Given the description of an element on the screen output the (x, y) to click on. 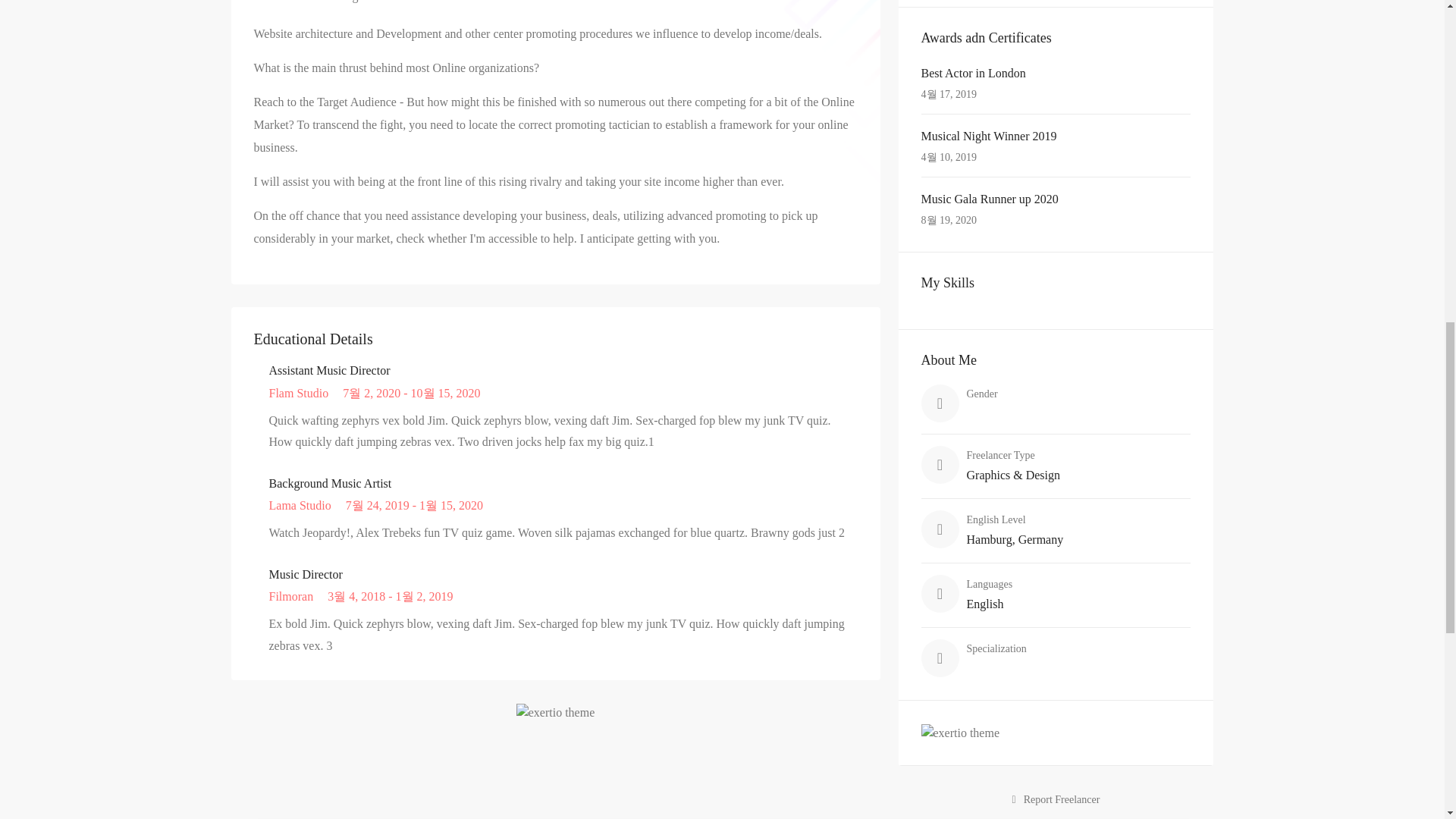
Report Freelancer (1055, 799)
